Given the description of an element on the screen output the (x, y) to click on. 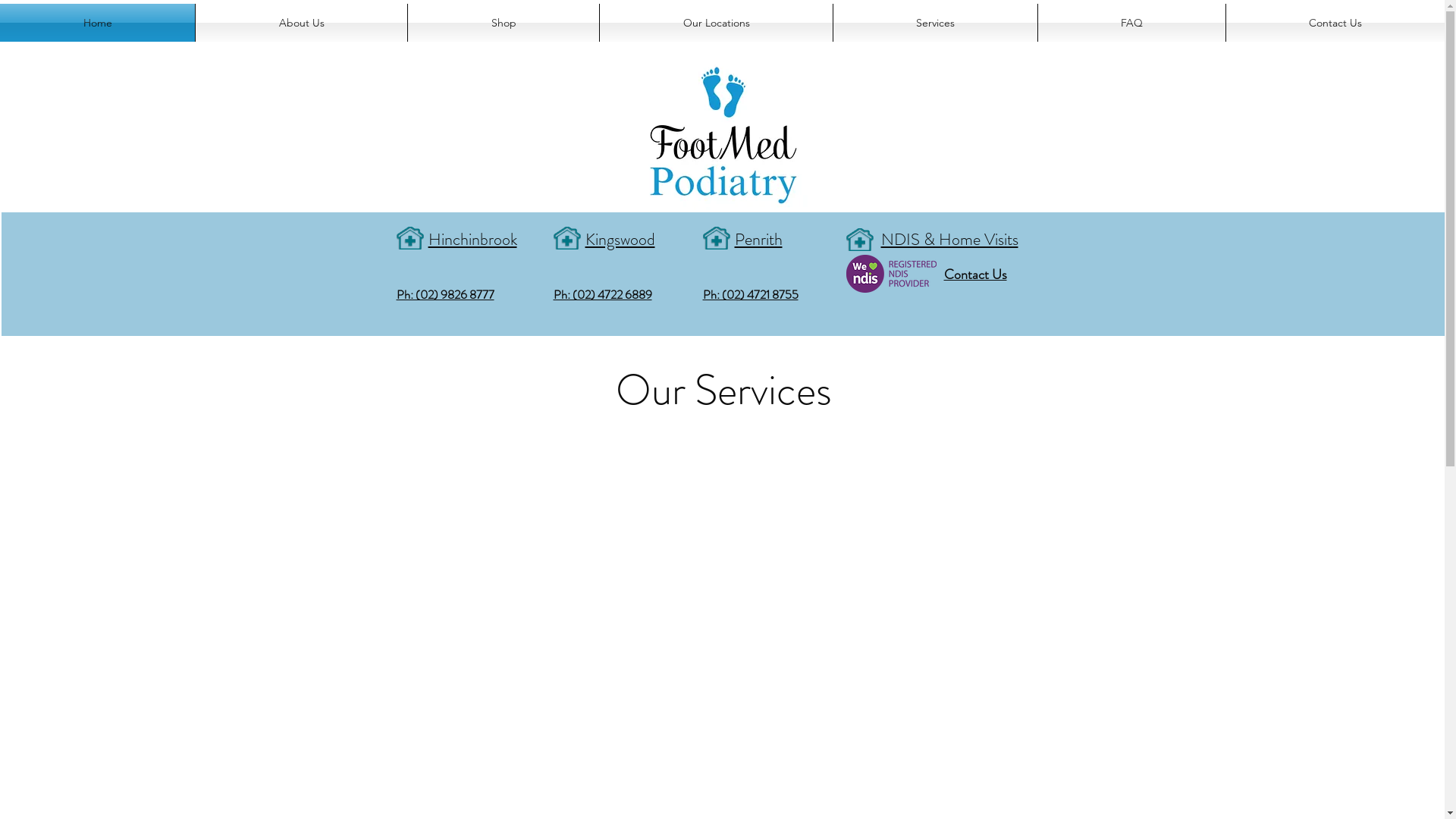
NDIS & Home Visits Element type: text (949, 237)
Penrith Element type: text (757, 237)
Contact Us Element type: text (974, 272)
cb1f72_e7b13722b14e45029799e212fb31eb0a~mv2.png Element type: hover (891, 273)
Ph: (02) 4721 8755 Element type: text (749, 293)
Hinchinbrook Element type: text (471, 237)
Our Locations Element type: text (238, 15)
Services Element type: text (935, 22)
Contact Us Element type: text (404, 15)
Ph: (02) 4722 6889 Element type: text (602, 293)
About Us Element type: text (301, 22)
About Us Element type: text (127, 15)
FAQ Element type: text (1131, 22)
Home Element type: text (75, 15)
Kingswood Element type: text (620, 237)
Our Locations Element type: text (715, 22)
Ph: (02) 9826 8777 Element type: text (444, 293)
Home Element type: text (97, 22)
Contact Us Element type: text (1335, 22)
FAQ Element type: text (351, 15)
Services Element type: text (306, 15)
